Given the description of an element on the screen output the (x, y) to click on. 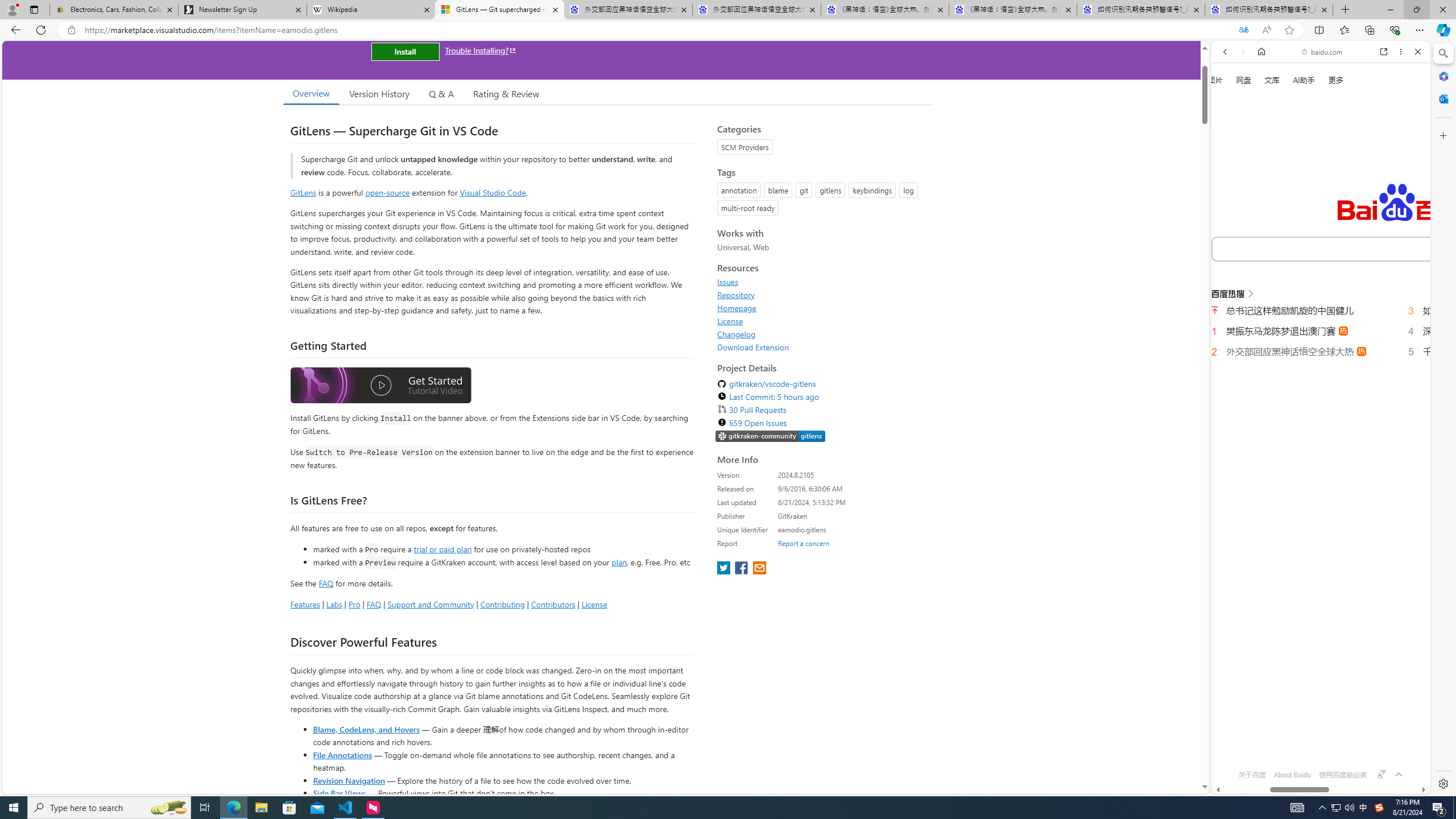
OFTV - Enjoy videos from your favorite OF creators! (1315, 753)
Actions for this site (1381, 514)
Features (304, 603)
License (820, 320)
Issues (727, 281)
English (US) (1320, 329)
